Given the description of an element on the screen output the (x, y) to click on. 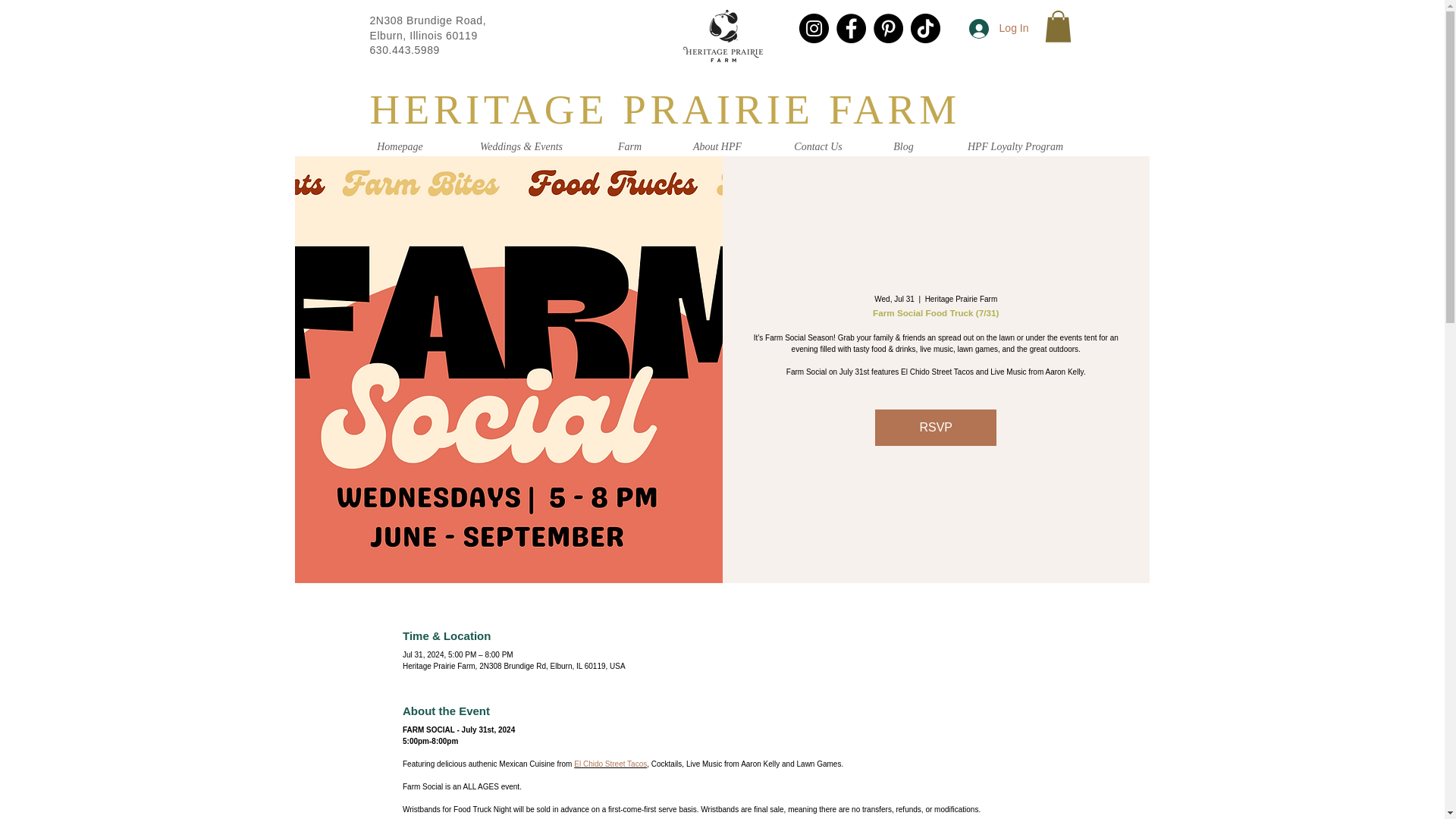
Farm (629, 146)
HPF Loyalty Program (1016, 146)
Homepage (399, 146)
RSVP (935, 427)
Blog (904, 146)
About HPF (717, 146)
Log In (998, 28)
El Chido Street Tacos (609, 764)
Contact Us (817, 146)
